Given the description of an element on the screen output the (x, y) to click on. 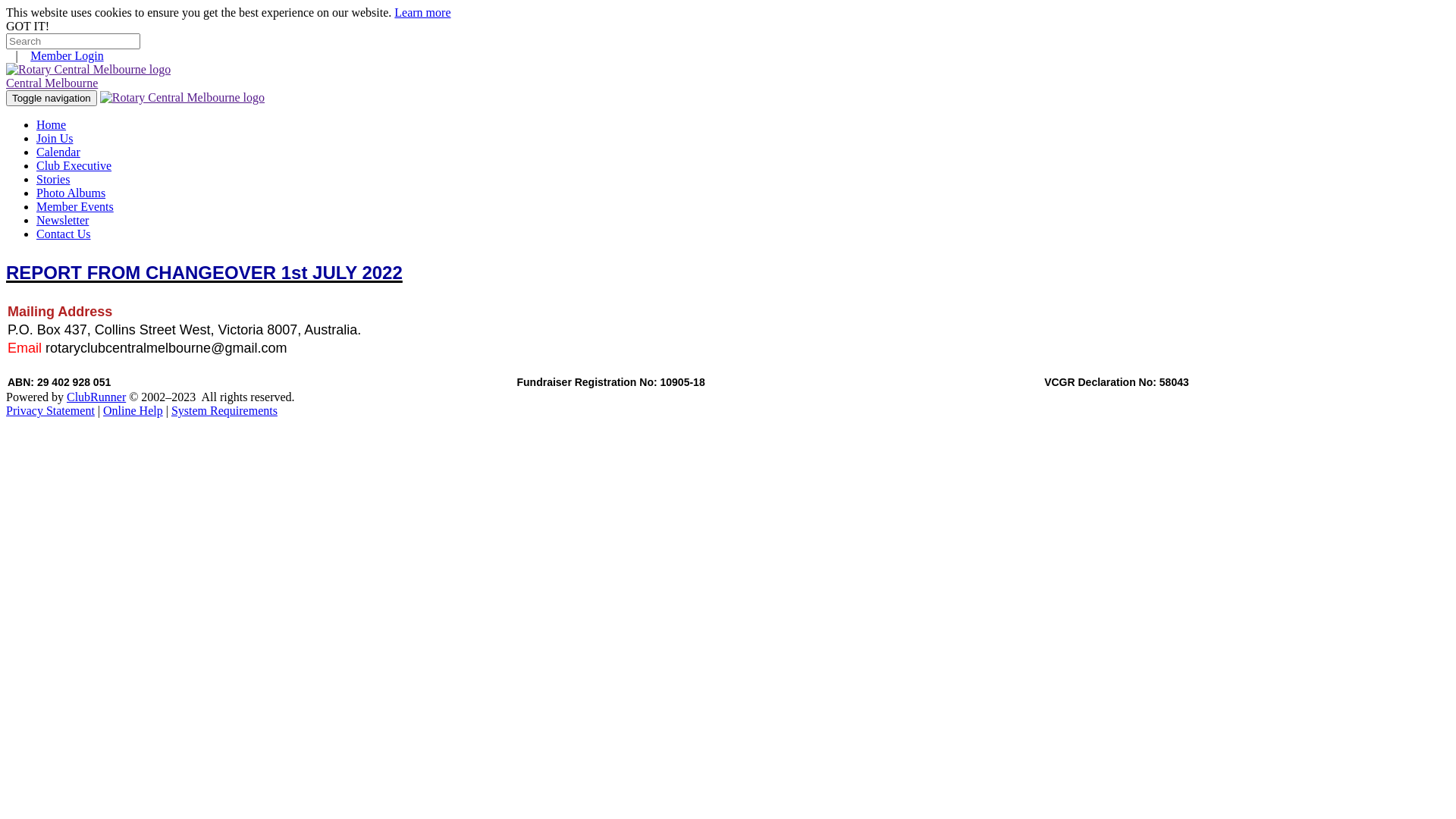
Join Us Element type: text (54, 137)
Newsletter Element type: text (62, 219)
Contact Us Element type: text (63, 233)
Member Events Element type: text (74, 206)
Club Executive Element type: text (73, 165)
Calendar Element type: text (58, 151)
Toggle navigation Element type: text (51, 98)
Home Element type: text (50, 124)
Stories Element type: text (52, 178)
Privacy Statement Element type: text (50, 410)
Member Login Element type: text (66, 55)
ClubRunner Element type: text (95, 396)
Photo Albums Element type: text (70, 192)
Online Help Element type: text (133, 410)
GOT IT! Element type: text (27, 25)
System Requirements Element type: text (224, 410)
Central Melbourne Element type: text (727, 76)
Learn more Element type: text (422, 12)
